Given the description of an element on the screen output the (x, y) to click on. 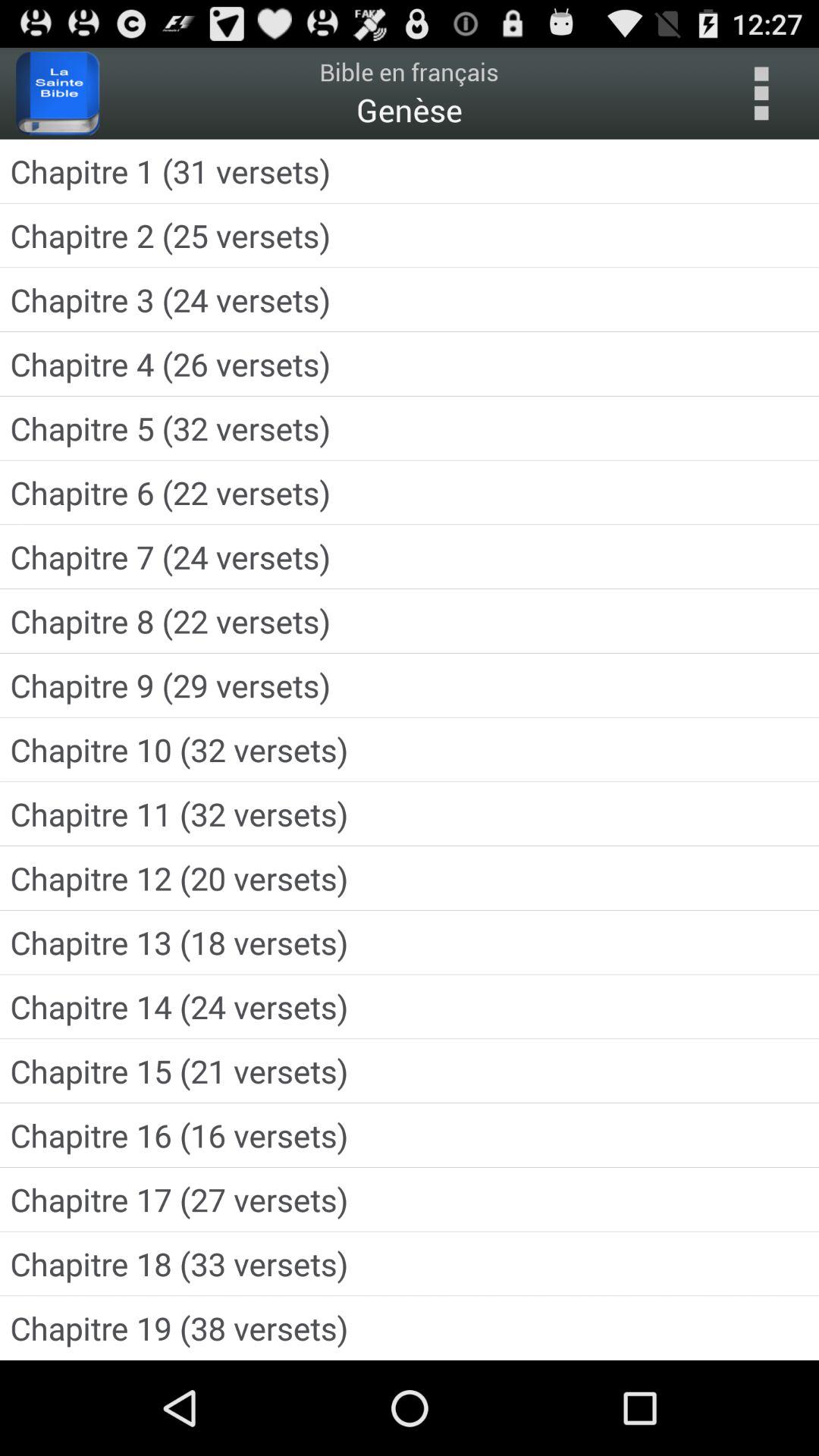
flip until the chapitre 16 16 app (409, 1134)
